Given the description of an element on the screen output the (x, y) to click on. 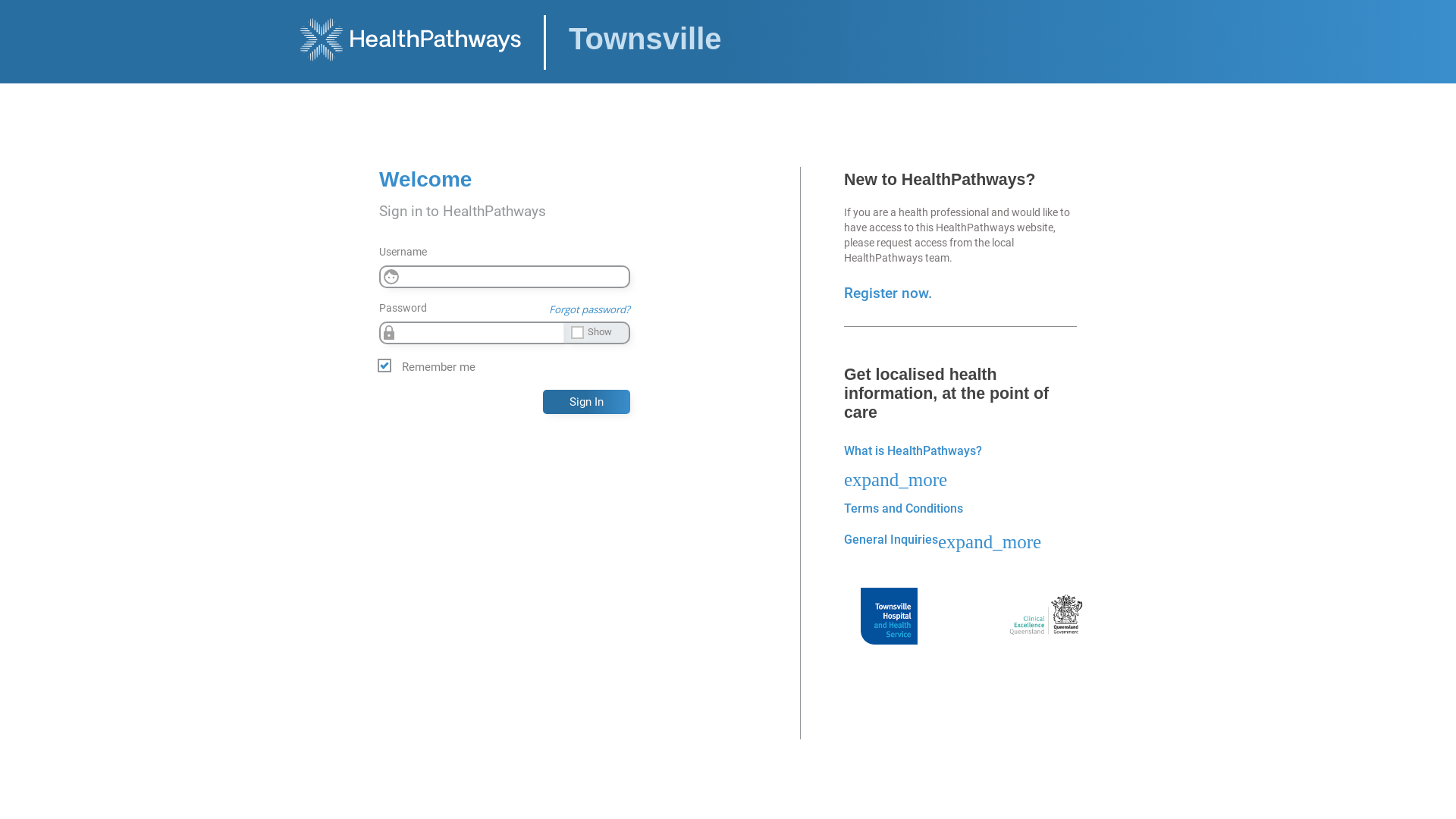
Register now. Element type: text (887, 293)
Sign In Element type: text (586, 401)
What is HealthPathways?expand_more Element type: text (913, 463)
General Inquiriesexpand_more Element type: text (942, 539)
Terms and Conditions Element type: text (903, 508)
on Element type: text (4, 11)
